Given the description of an element on the screen output the (x, y) to click on. 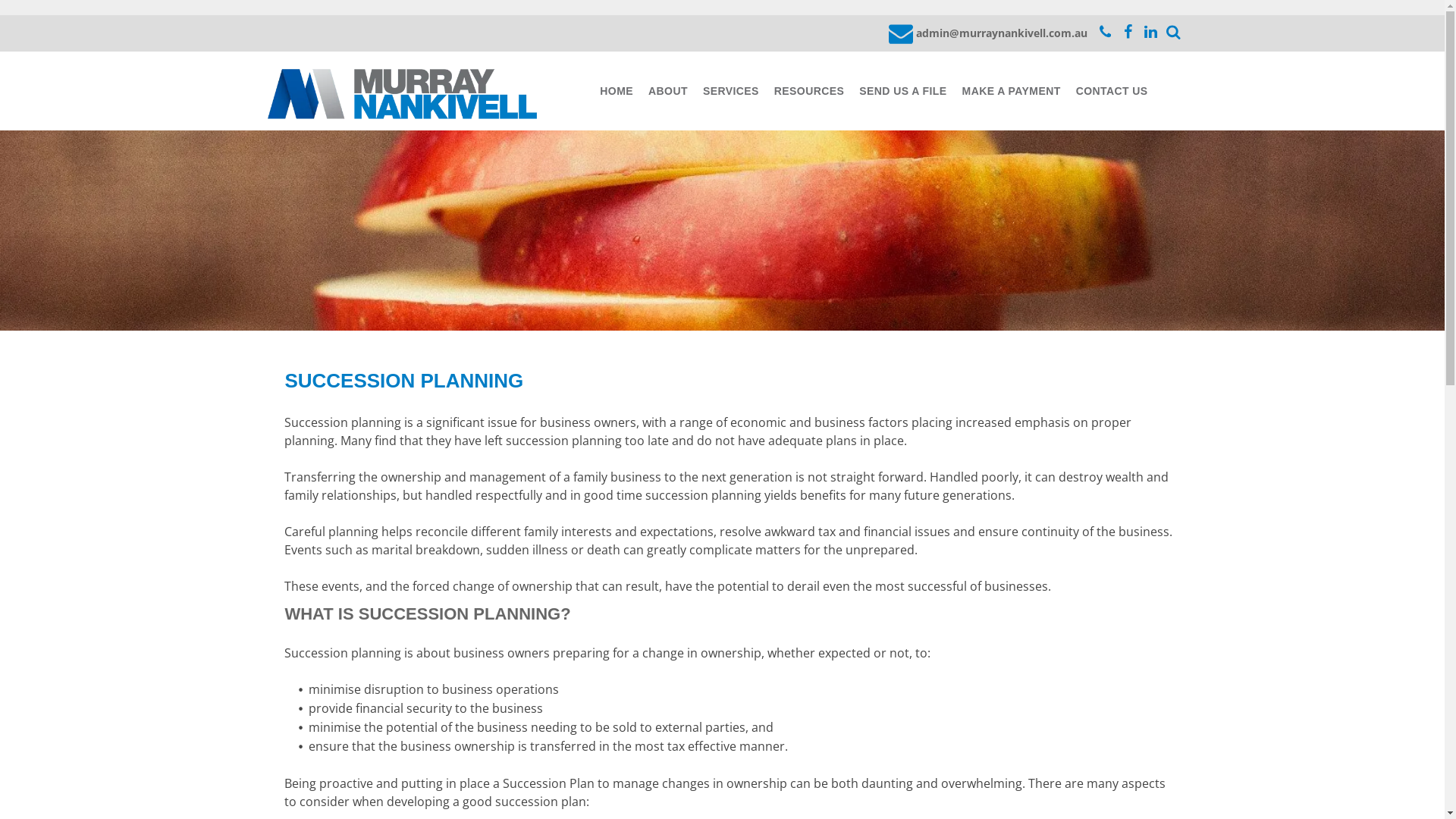
RESOURCES Element type: text (808, 91)
contact_murray_nankivell Element type: text (1105, 31)
ABOUT Element type: text (667, 91)
HOME Element type: text (616, 91)
MAKE A PAYMENT Element type: text (1011, 91)
CONTACT US Element type: text (1111, 91)
search Element type: text (1173, 31)
SERVICES Element type: text (730, 91)
SEND US A FILE Element type: text (902, 91)
admin@murraynankivell.com.au Element type: text (987, 31)
https://www.facebook.com/MurrayNankivell/ Element type: text (1127, 31)
